Given the description of an element on the screen output the (x, y) to click on. 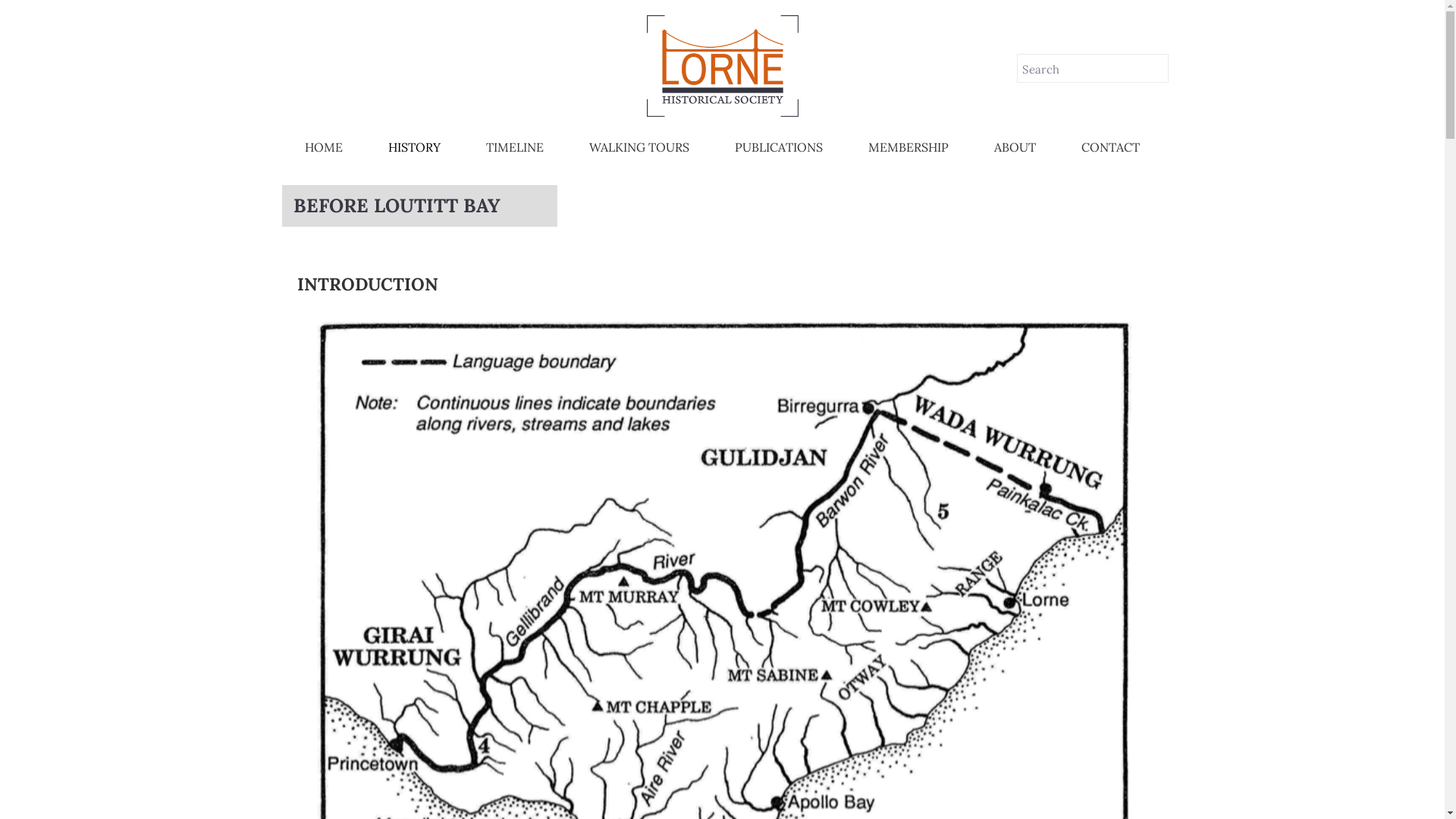
MEMBERSHIP Element type: text (908, 146)
WALKING TOURS Element type: text (639, 146)
ABOUT Element type: text (1015, 146)
TIMELINE Element type: text (514, 146)
HISTORY Element type: text (414, 146)
Search for: Element type: hover (1092, 69)
HOME Element type: text (323, 146)
CONTACT Element type: text (1110, 146)
PUBLICATIONS Element type: text (778, 146)
